Given the description of an element on the screen output the (x, y) to click on. 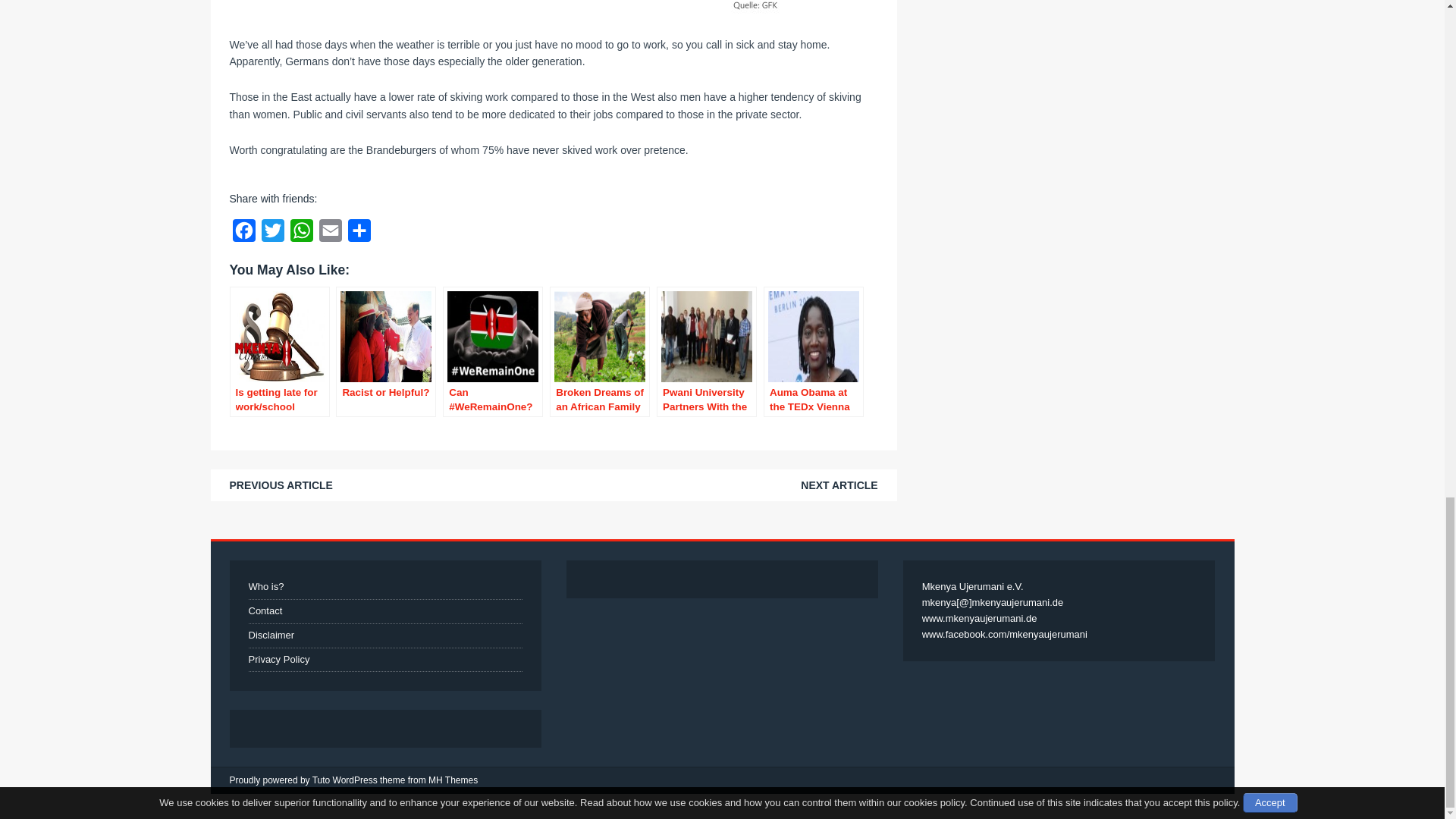
WhatsApp (300, 234)
Email (329, 234)
Twitter (271, 234)
Facebook (242, 234)
